Given the description of an element on the screen output the (x, y) to click on. 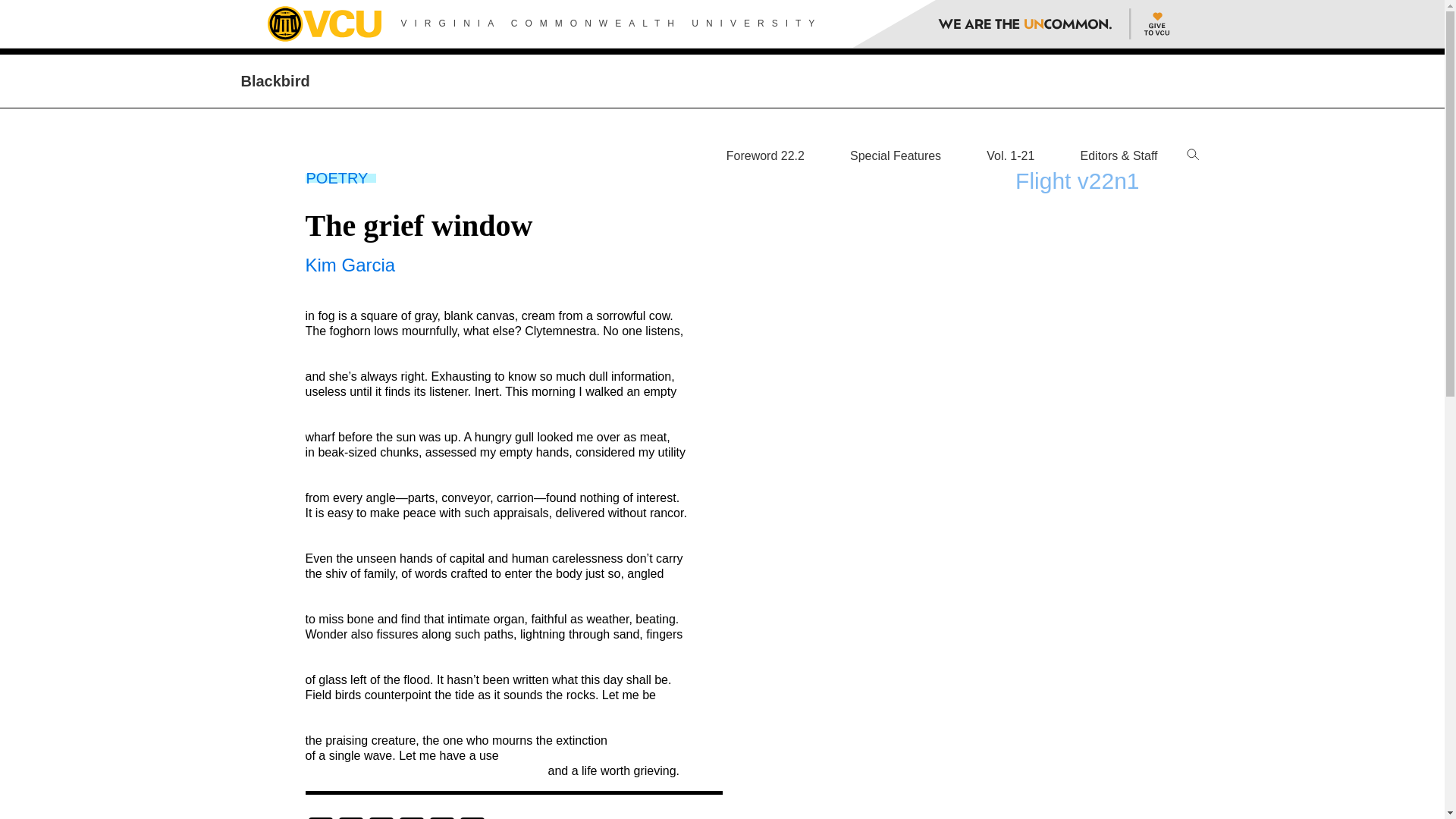
Virginia Commonwealth University (323, 23)
Give to VCU (1152, 23)
We are the UNcommon. (1031, 23)
Email (411, 818)
Facebook (319, 818)
POETRY (336, 177)
Kim Garcia (349, 264)
Foreword 22.2 (765, 155)
Facebook (319, 818)
We are the UNcommon. (1031, 23)
X (441, 818)
Special Features (894, 155)
Email (411, 818)
Flight v22n1 (1076, 180)
